Given the description of an element on the screen output the (x, y) to click on. 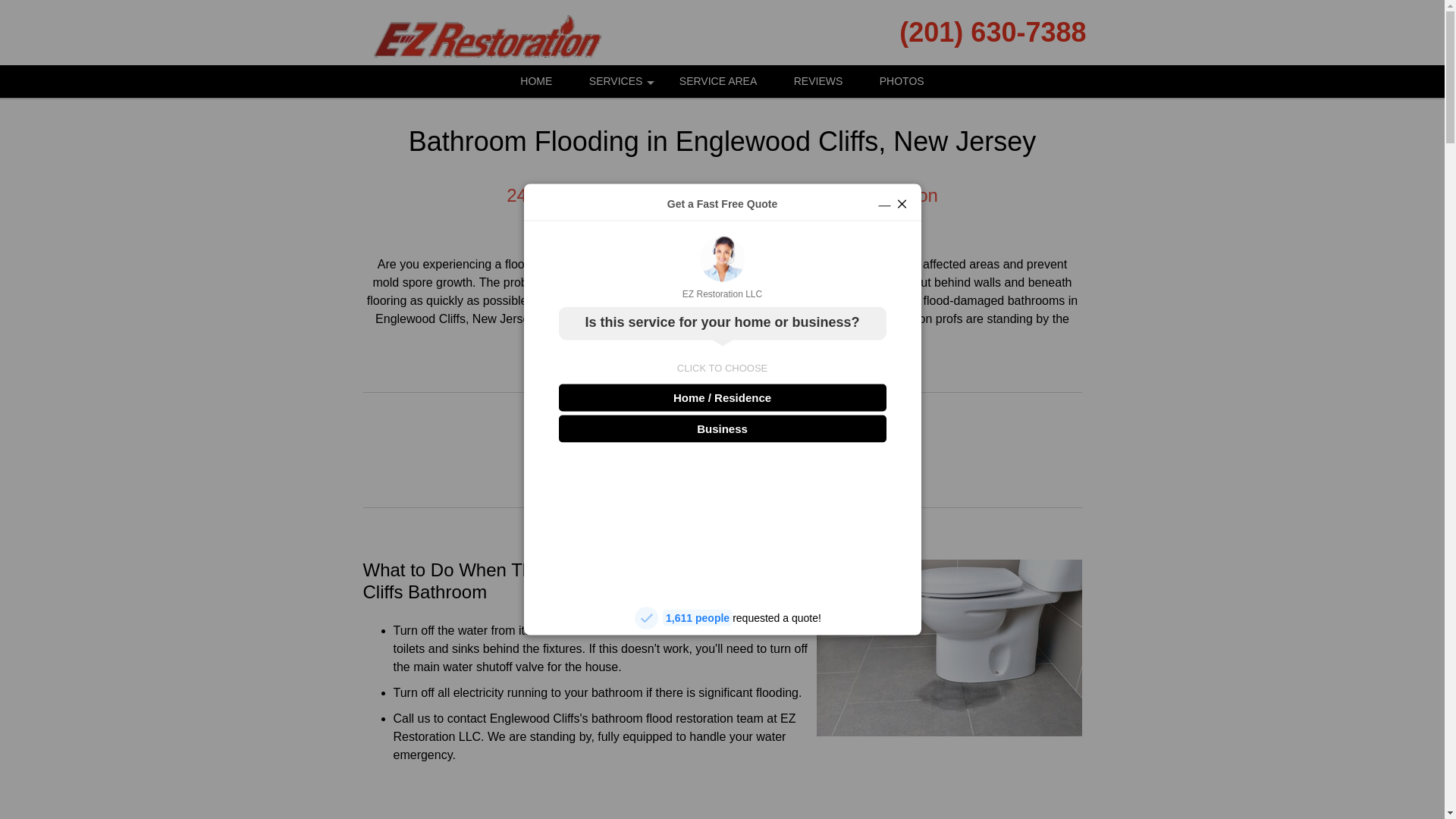
HOME (536, 81)
PHOTOS (901, 81)
REVIEWS (818, 81)
SERVICE AREA (717, 81)
